Given the description of an element on the screen output the (x, y) to click on. 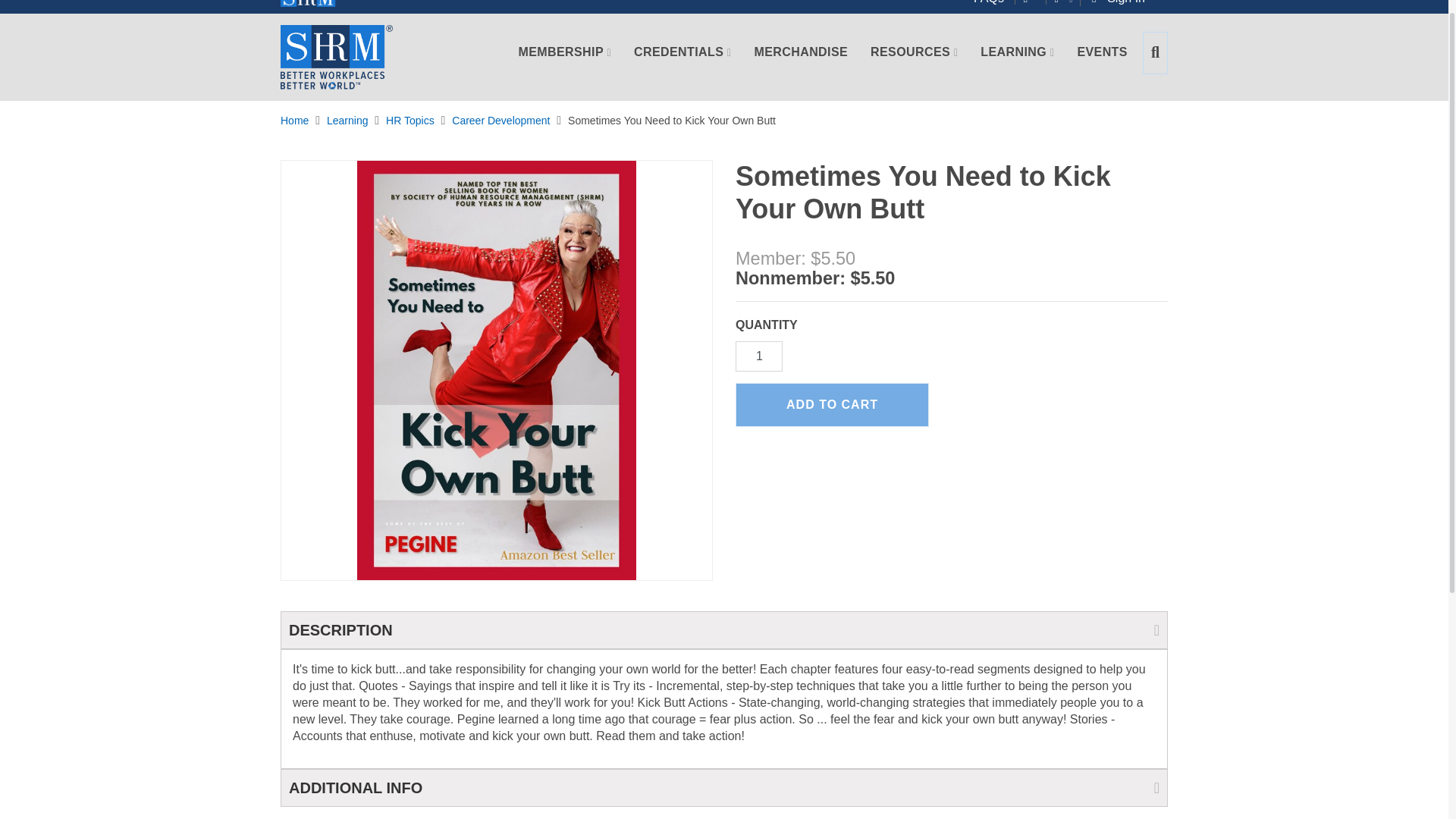
Sign In (1122, 6)
call SHRM (1034, 2)
SHRM Store (337, 57)
MEMBERSHIP (565, 61)
FAQs (994, 2)
RESOURCES (914, 61)
1 (759, 356)
CREDENTIALS (682, 61)
Cart (1073, 6)
MERCHANDISE (801, 61)
